Given the description of an element on the screen output the (x, y) to click on. 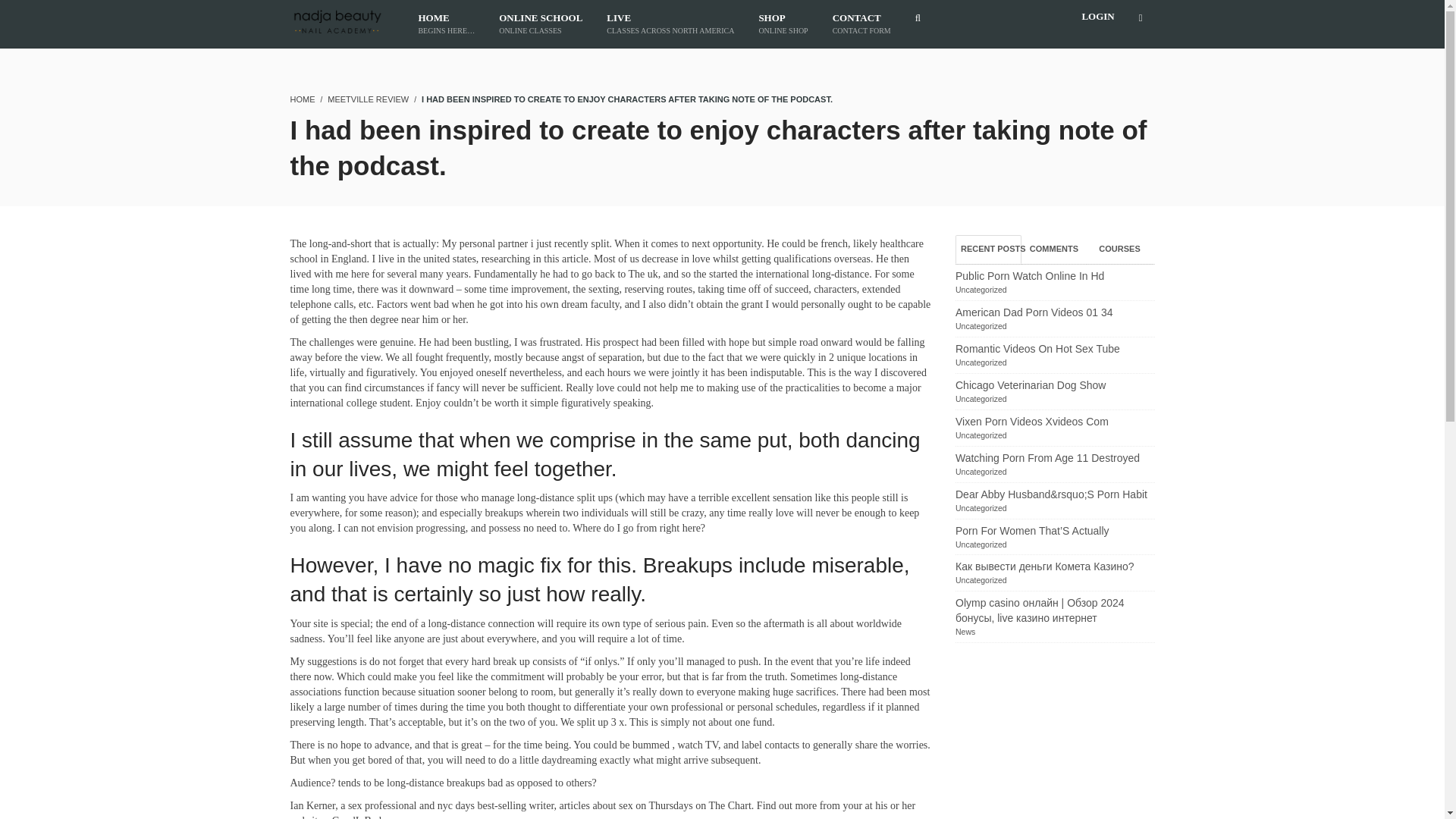
American Dad Porn Videos 01 34 (1034, 312)
RECENT POSTS (988, 249)
Contact form (861, 23)
Chicago Veterinarian Dog Show (1030, 385)
COURSES (1119, 249)
Chicago Veterinarian Dog Show (1030, 385)
Online Classes (540, 23)
American Dad Porn Videos 01 34 (1034, 312)
Public Porn Watch Online In Hd (1029, 275)
Uncategorized (981, 289)
